Given the description of an element on the screen output the (x, y) to click on. 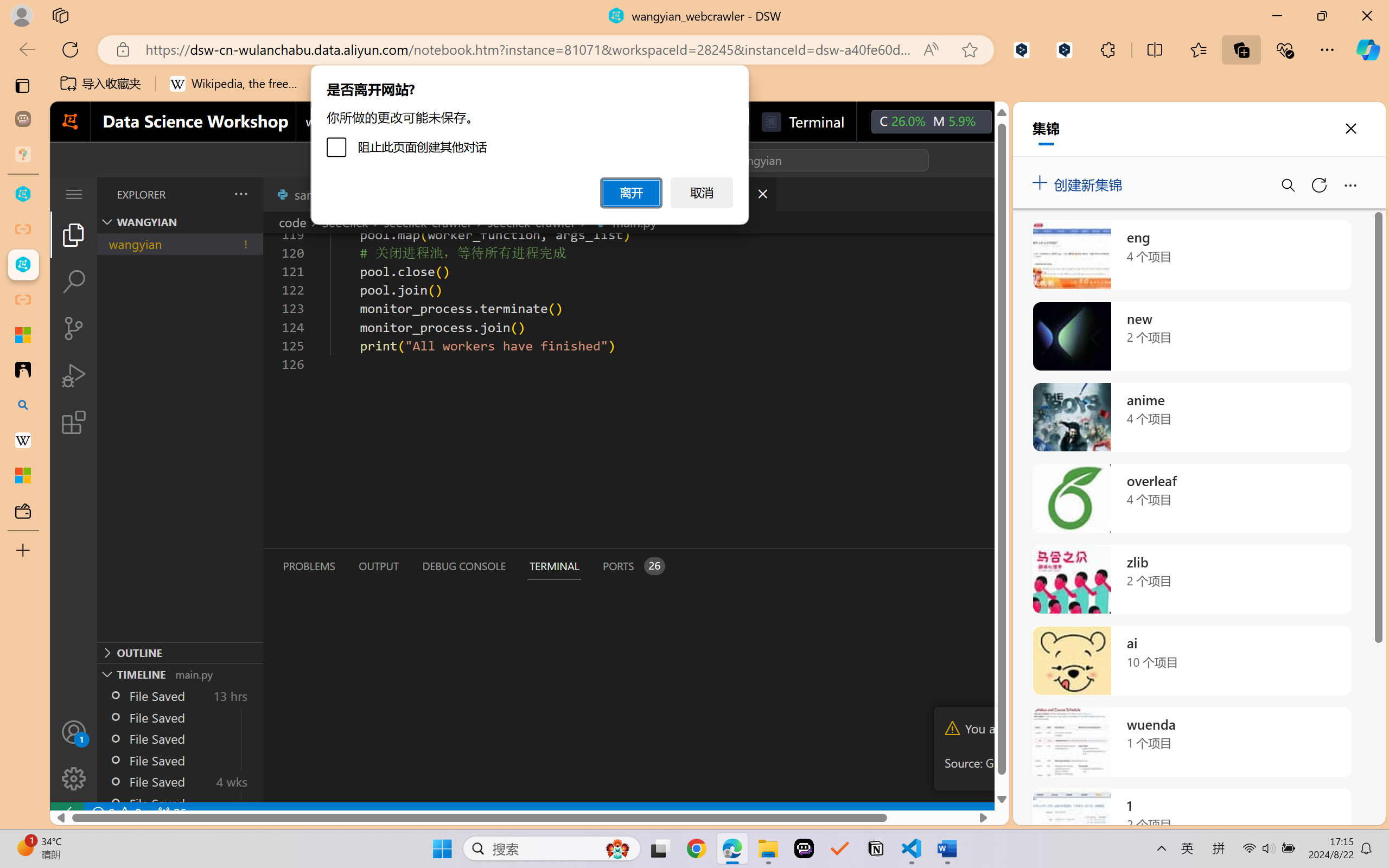
icon (1015, 121)
Google Chrome (696, 848)
